Given the description of an element on the screen output the (x, y) to click on. 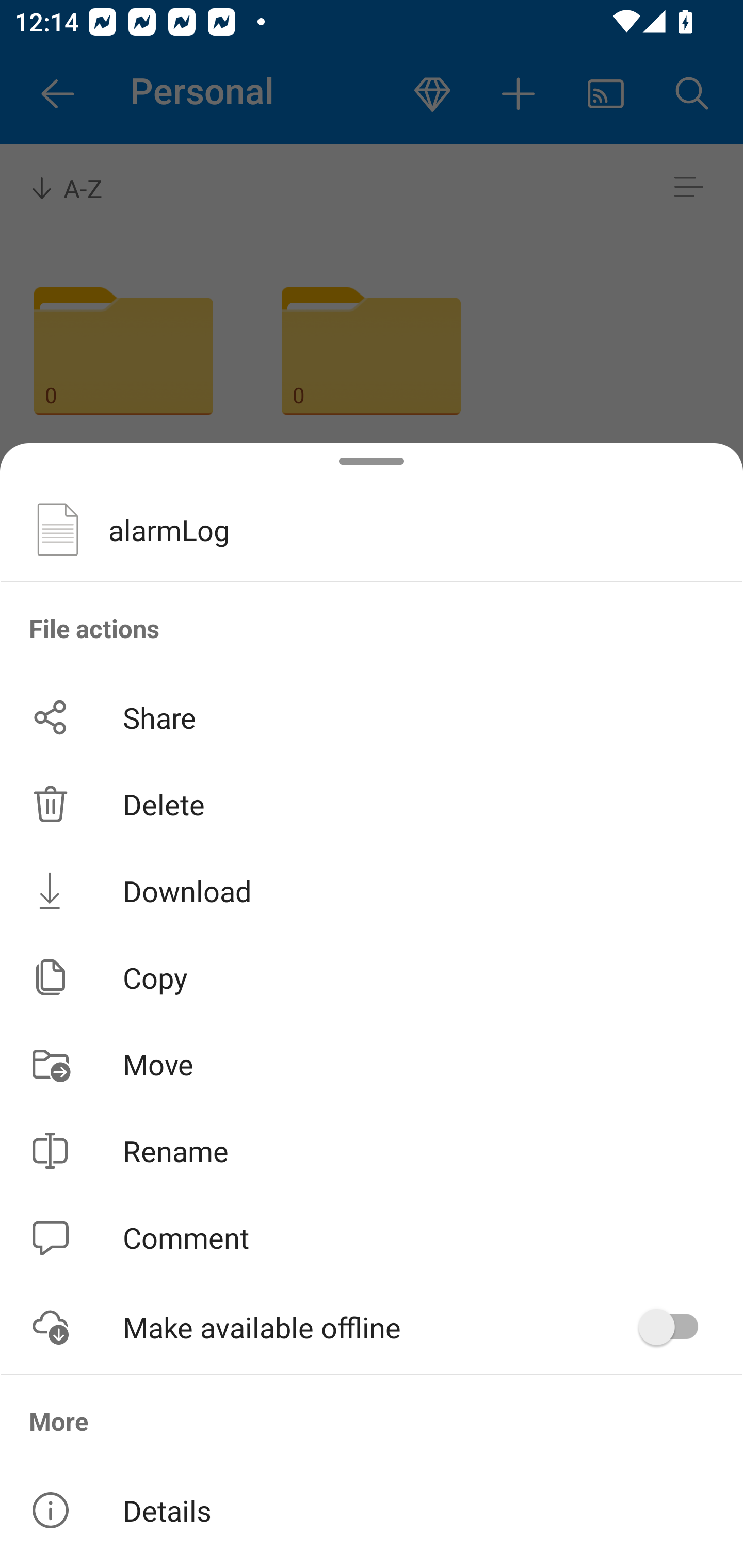
Share button Share (371, 717)
Delete button Delete (371, 803)
Download button Download (371, 890)
Copy button Copy (371, 977)
Move button Move (371, 1063)
Rename button Rename (371, 1150)
Comment button Comment (371, 1237)
Make offline operation (674, 1327)
Details button Details (371, 1510)
